Given the description of an element on the screen output the (x, y) to click on. 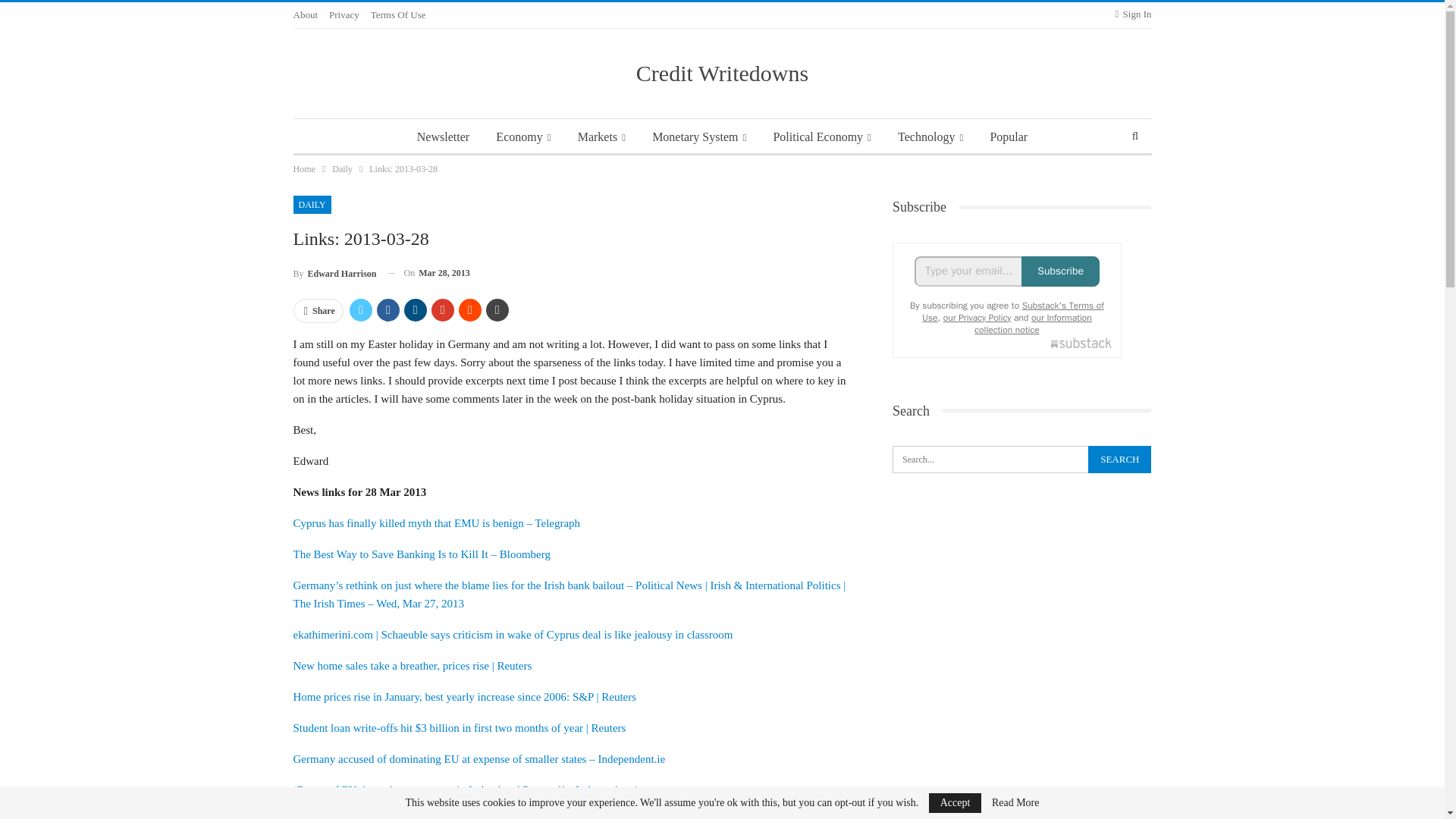
Search (1119, 459)
Economy (522, 136)
Credit Writedowns (722, 72)
Browse Author Articles (333, 272)
Search (1119, 459)
Sign In (1133, 13)
Markets (601, 136)
Terms Of Use (398, 14)
Newsletter (443, 136)
Search for: (1021, 459)
Privacy (344, 14)
Technology (930, 136)
About (304, 14)
Political Economy (820, 136)
Monetary System (699, 136)
